Given the description of an element on the screen output the (x, y) to click on. 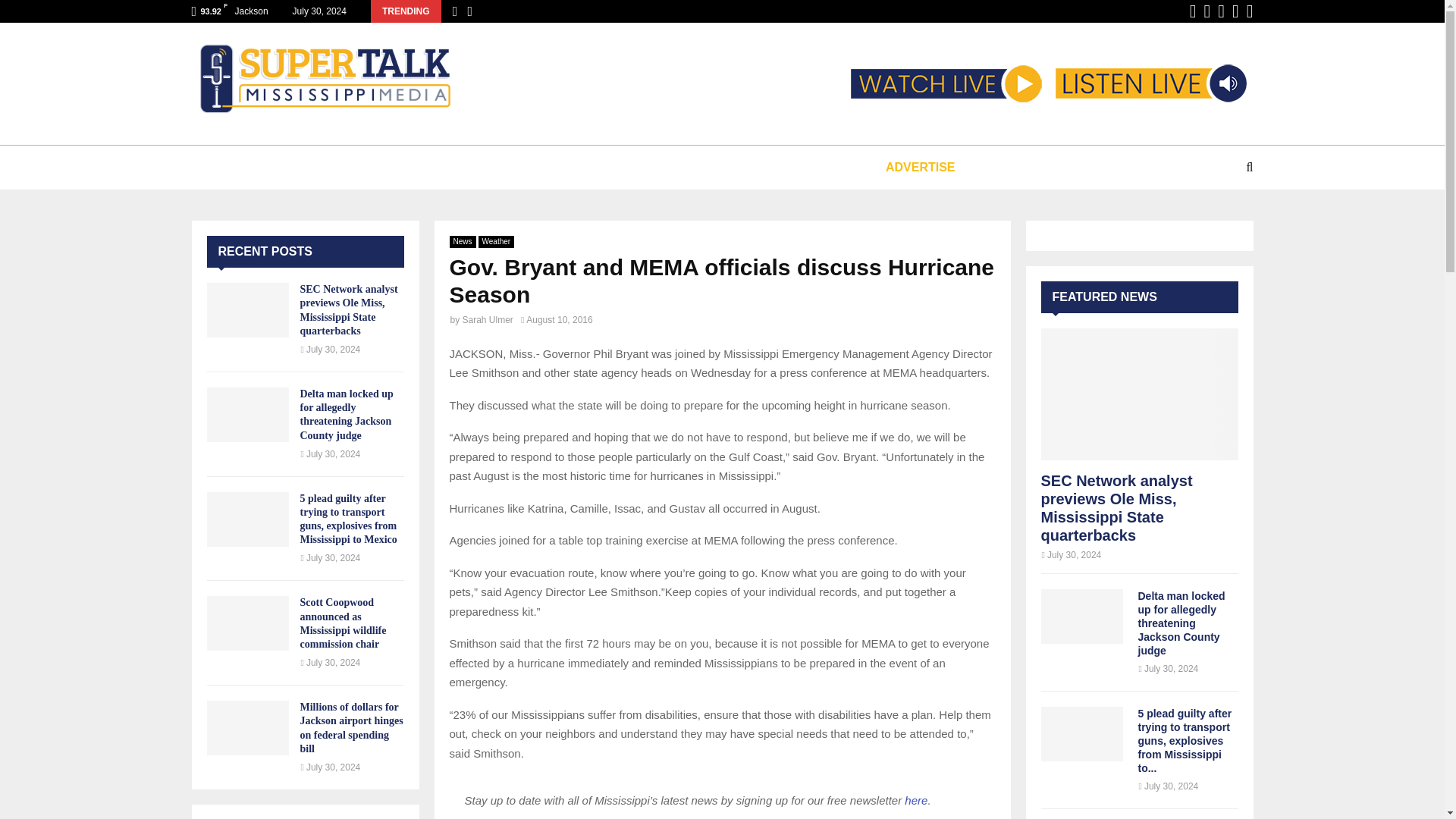
STATIONS (345, 167)
SHOWS (430, 167)
TUNE IN (255, 167)
